Given the description of an element on the screen output the (x, y) to click on. 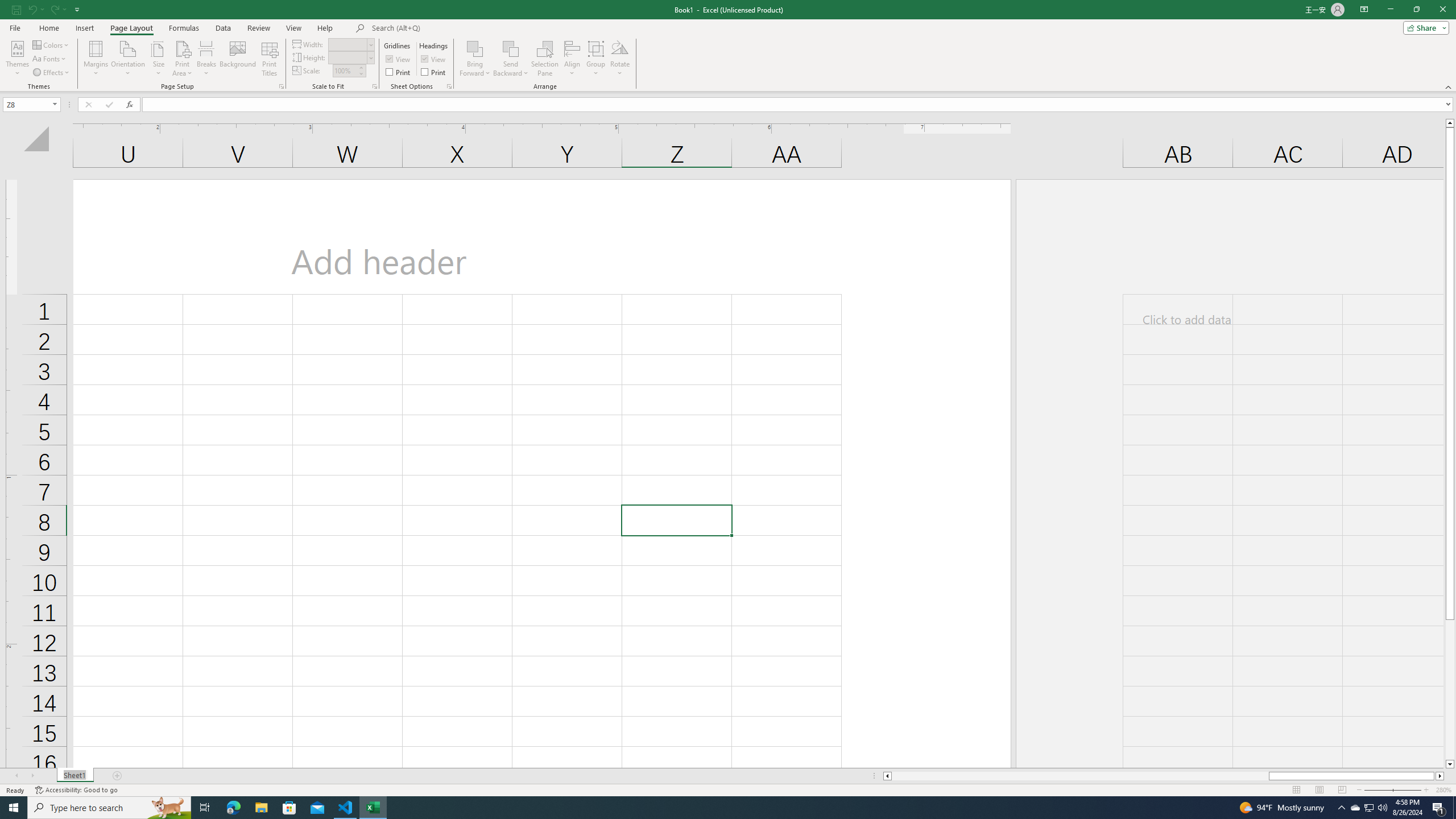
Send Backward (510, 58)
Align (571, 58)
Height (347, 57)
Print Area (182, 58)
Bring Forward (475, 58)
Print Titles (269, 58)
